Given the description of an element on the screen output the (x, y) to click on. 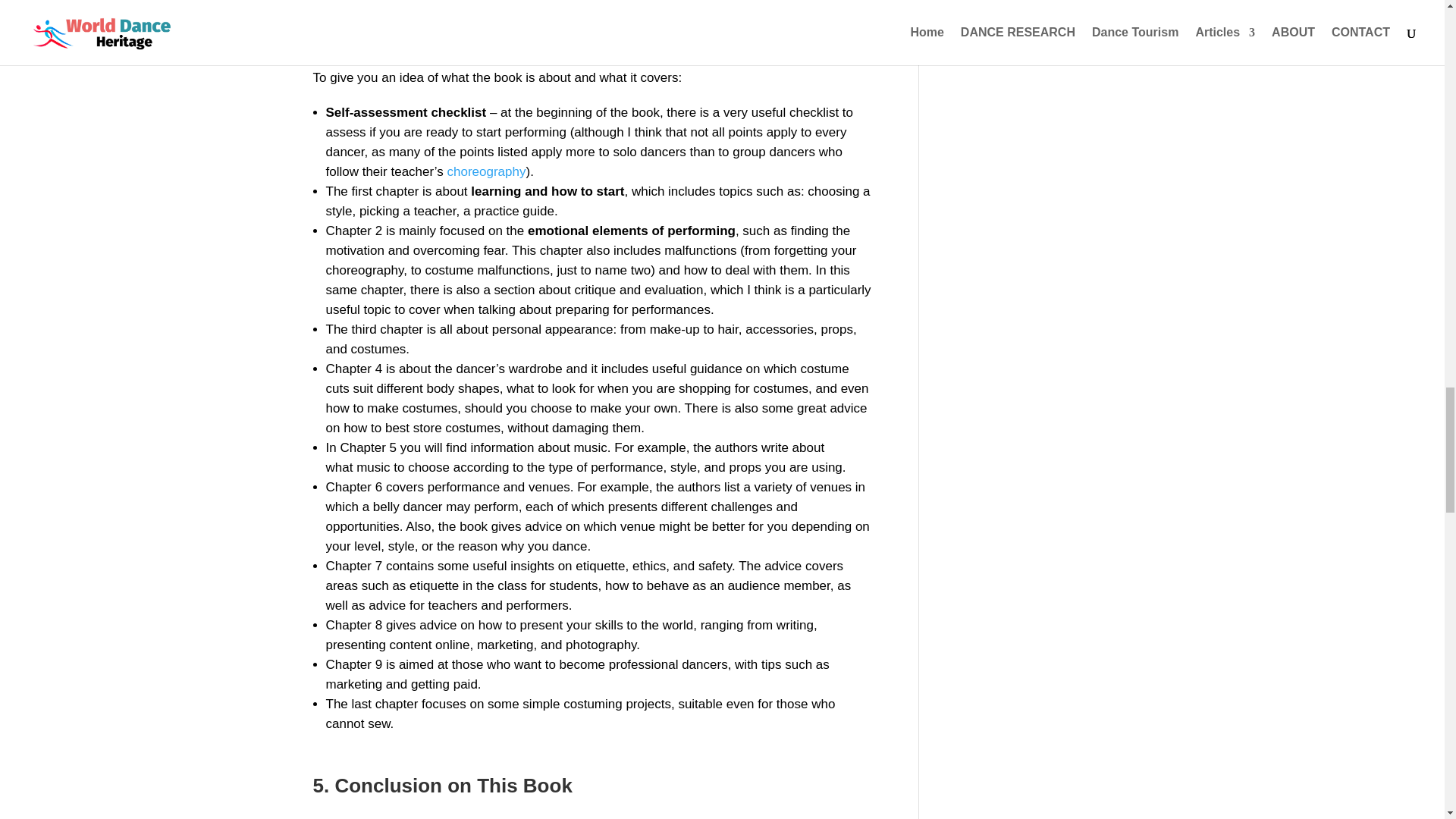
choreography (485, 171)
